Given the description of an element on the screen output the (x, y) to click on. 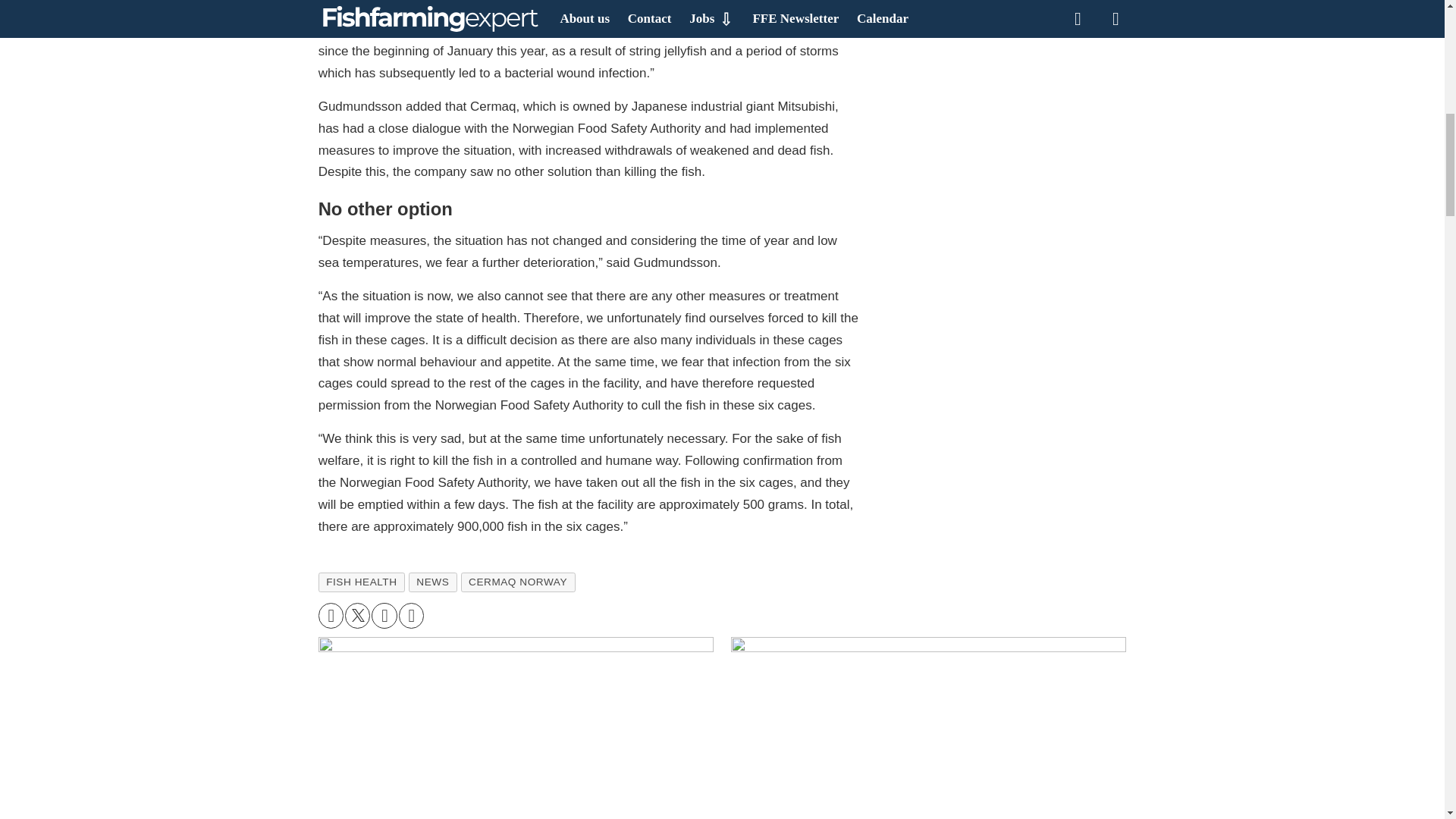
FISH HEALTH (361, 582)
Salmon prices continue to fall (928, 728)
CERMAQ NORWAY (518, 582)
NEWS (433, 582)
Salmon prices continue to fall (928, 726)
